Given the description of an element on the screen output the (x, y) to click on. 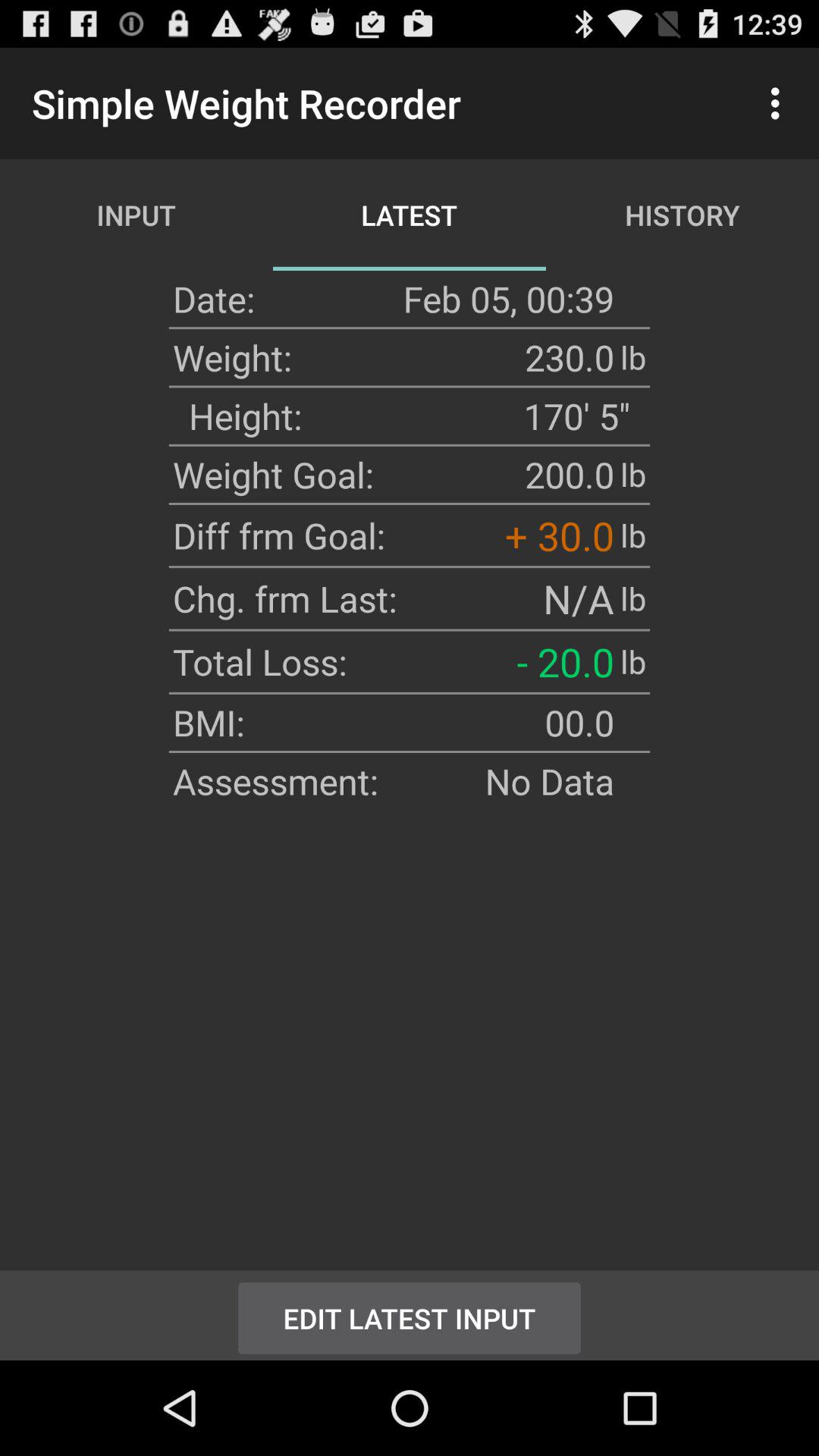
press edit latest input icon (409, 1315)
